Given the description of an element on the screen output the (x, y) to click on. 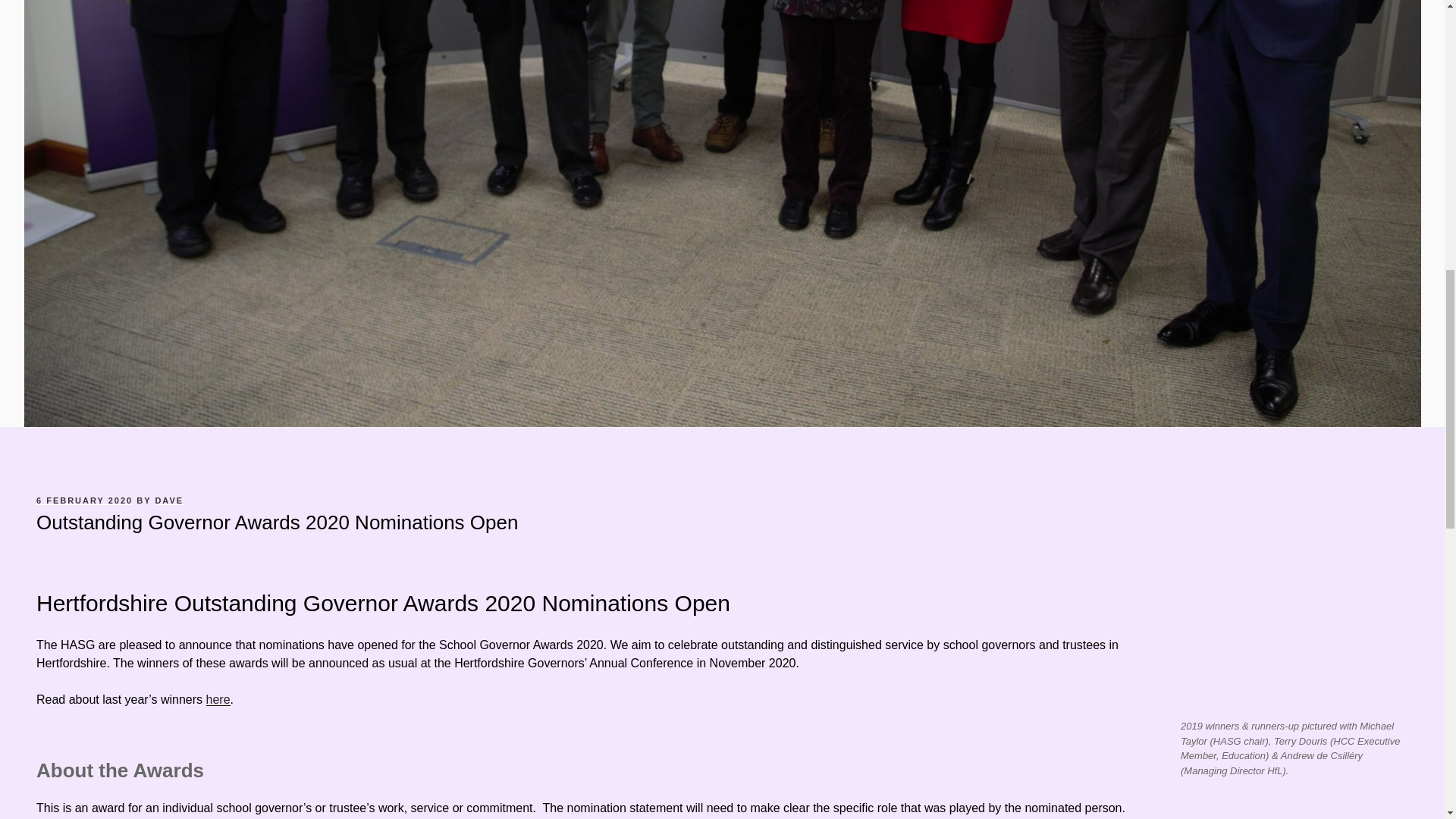
here (218, 698)
DAVE (168, 500)
6 FEBRUARY 2020 (84, 500)
